Given the description of an element on the screen output the (x, y) to click on. 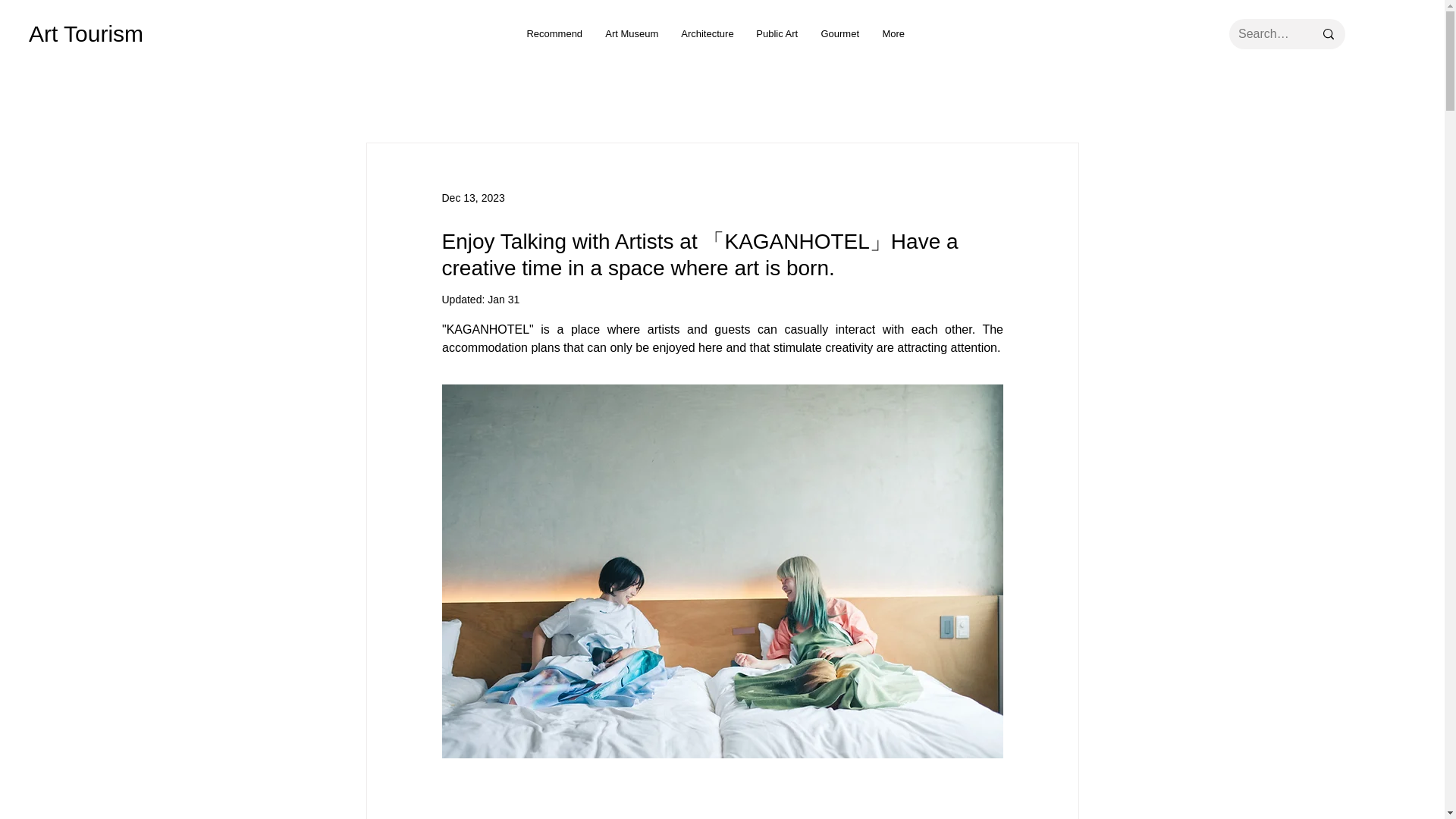
Art Tourism (85, 33)
Architecture (706, 34)
Public Art (776, 34)
Gourmet (839, 34)
Recommend (554, 34)
Jan 31 (503, 299)
Dec 13, 2023 (472, 196)
Art Museum (631, 34)
